Given the description of an element on the screen output the (x, y) to click on. 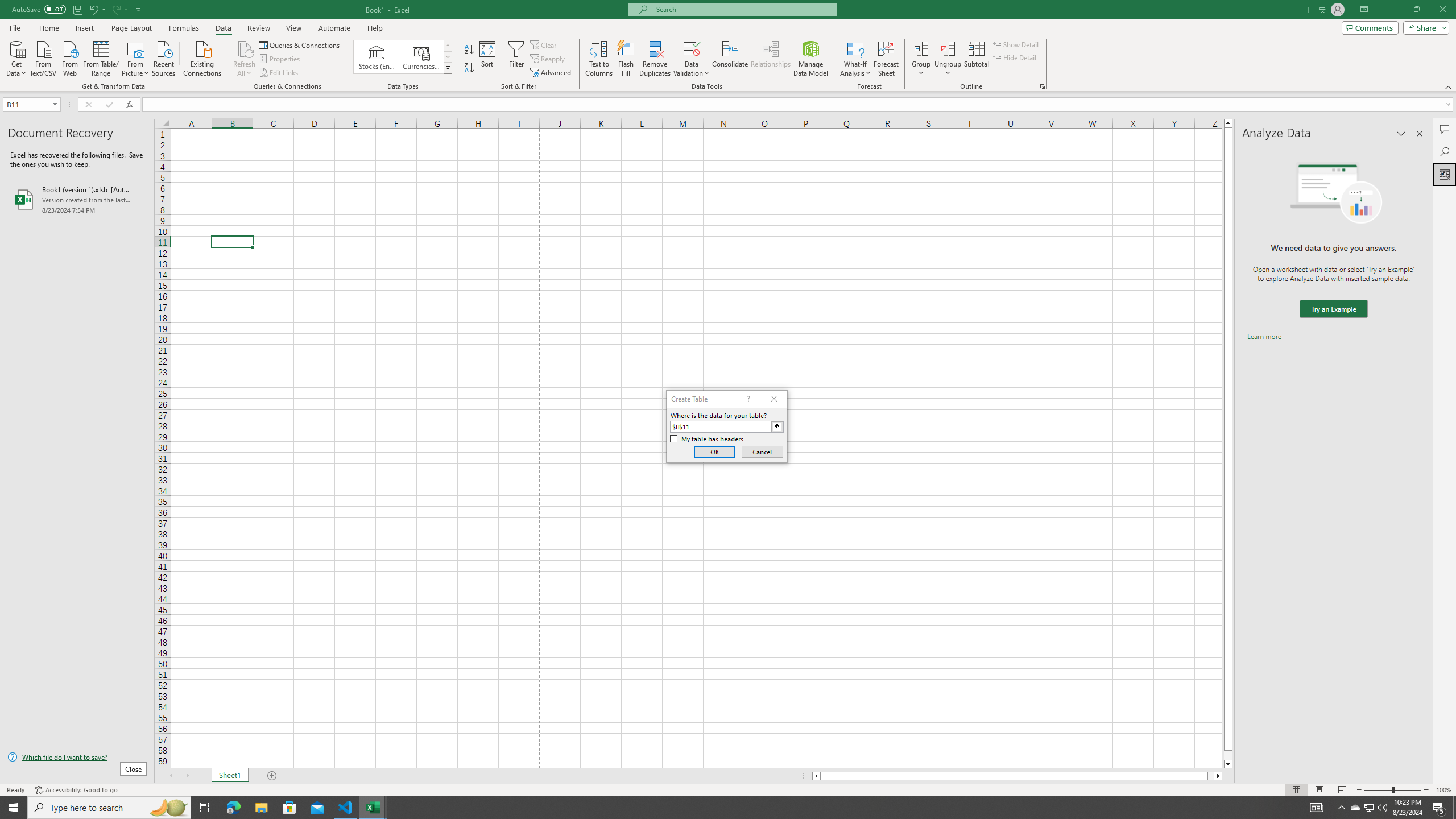
Show Detail (1016, 44)
Analyze Data (1444, 173)
Advanced... (551, 72)
Flash Fill (625, 58)
Get Data (16, 57)
Forecast Sheet (885, 58)
Edit Links (279, 72)
From Text/CSV (43, 57)
Group and Outline Settings (1042, 85)
